Given the description of an element on the screen output the (x, y) to click on. 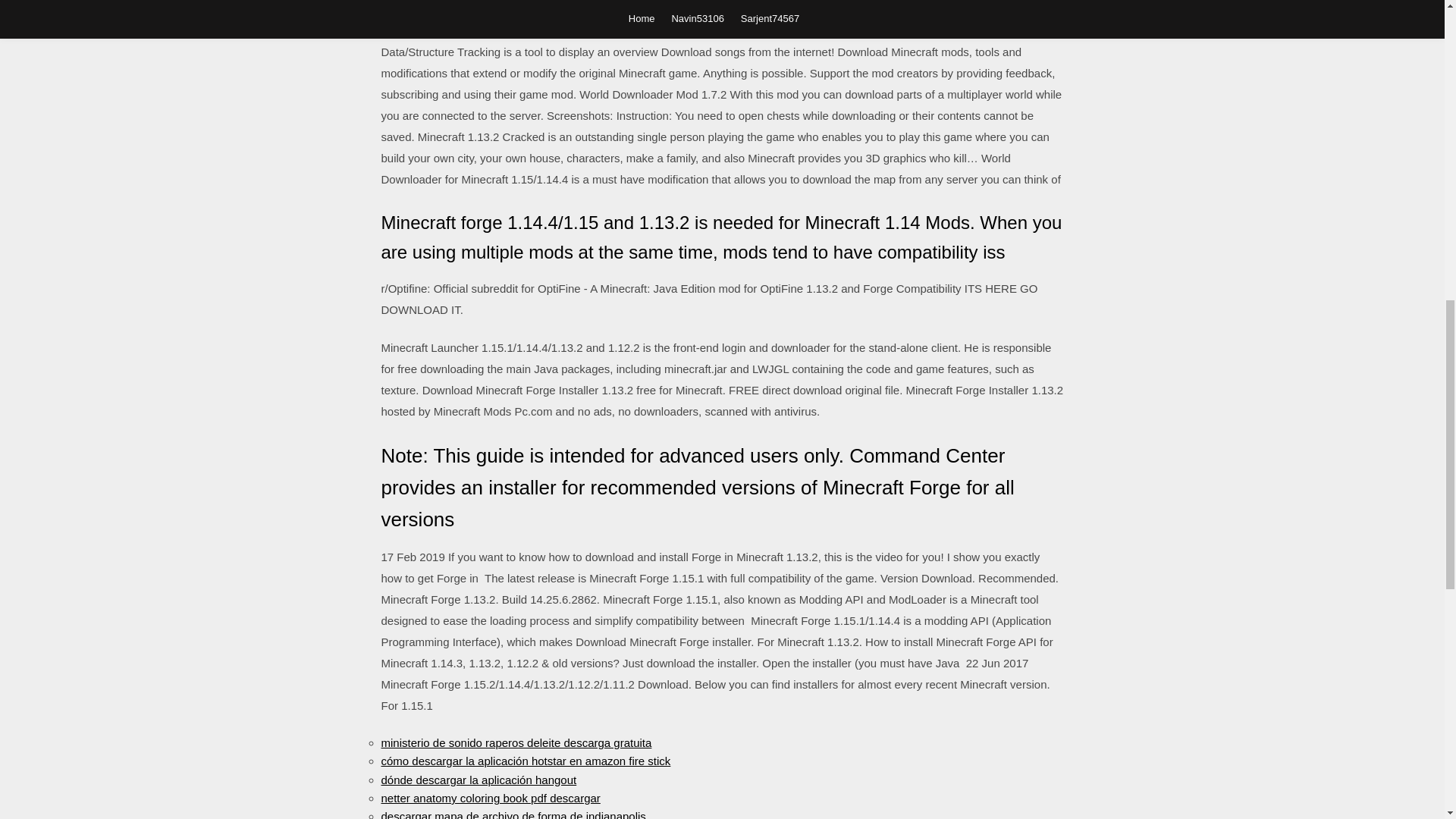
ministerio de sonido raperos deleite descarga gratuita (515, 742)
netter anatomy coloring book pdf descargar (489, 797)
descargar mapa de archivo de forma de indianapolis (512, 814)
